Given the description of an element on the screen output the (x, y) to click on. 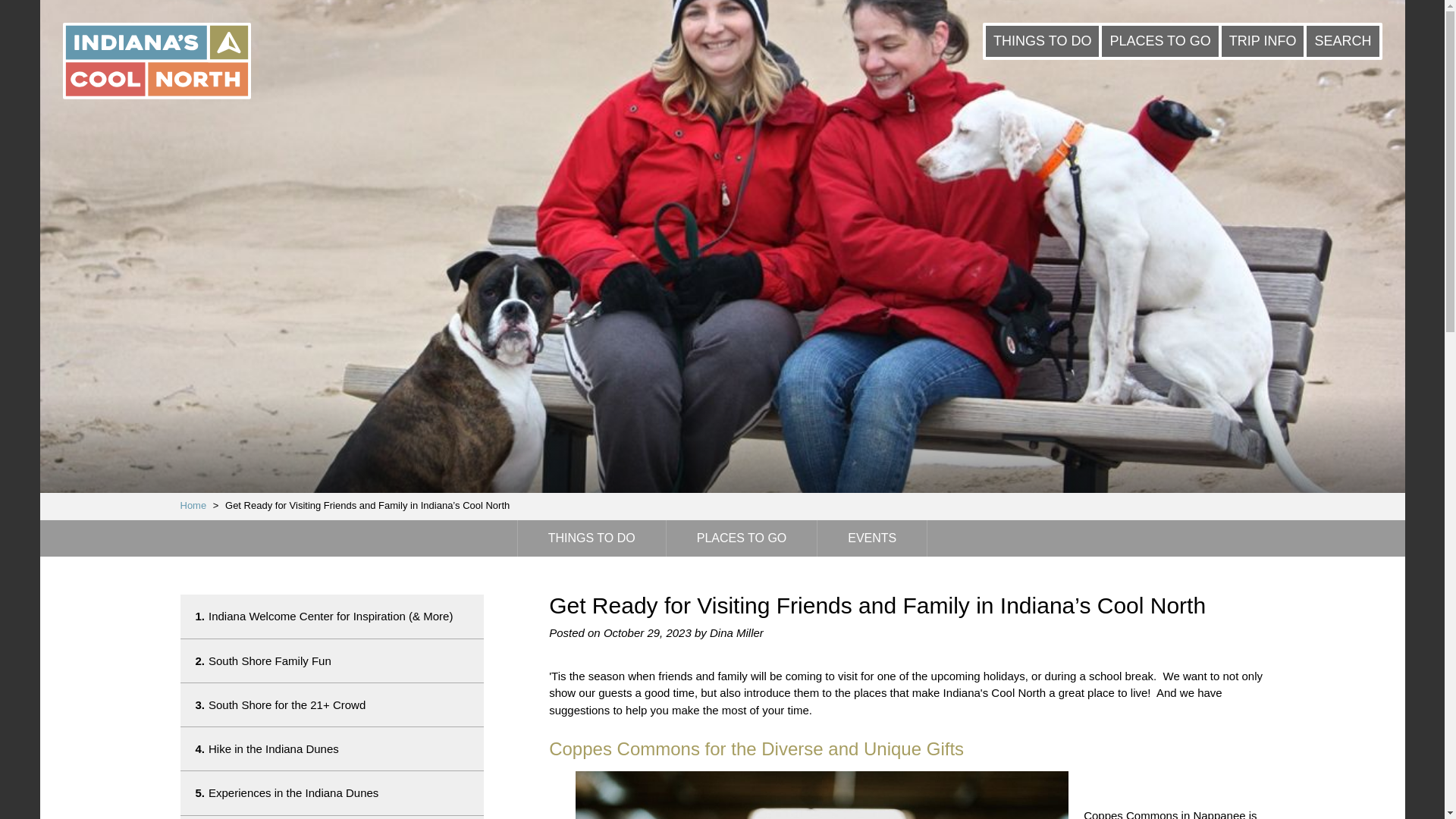
TRIP INFO (1262, 40)
PLACES TO GO (741, 538)
Homepage (193, 505)
SEARCH (1342, 40)
Hike in the Indiana Dunes (331, 748)
PLACES TO GO (1159, 40)
EVENTS (871, 538)
Indiana's Cool North (156, 62)
THINGS TO DO (591, 538)
South Shore Family Fun (331, 660)
Experiences in the Indiana Dunes (331, 792)
THINGS TO DO (1042, 40)
Home (193, 505)
